Given the description of an element on the screen output the (x, y) to click on. 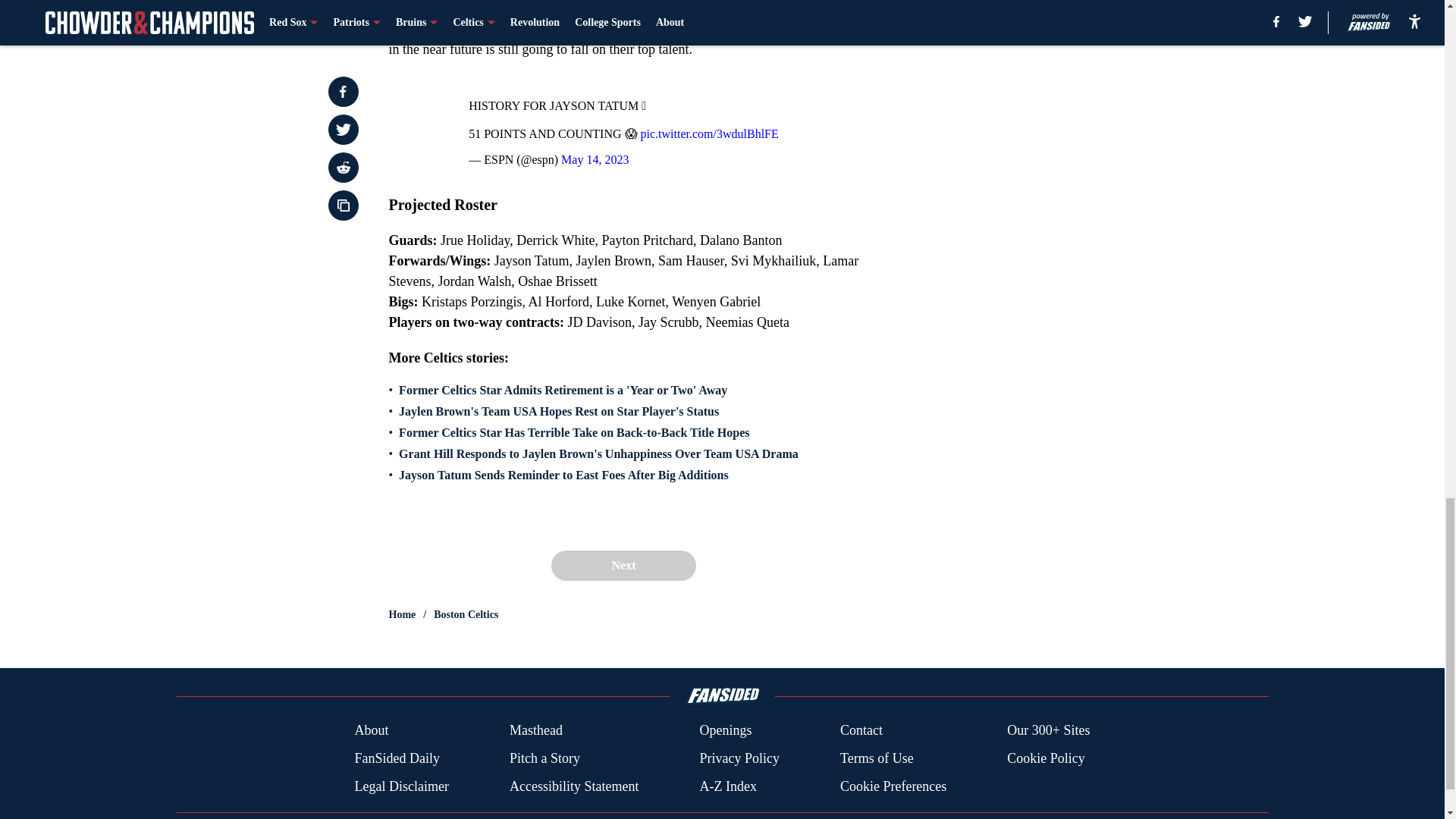
May 14, 2023 (594, 159)
Jaylen Brown's Team USA Hopes Rest on Star Player's Status (558, 411)
